Given the description of an element on the screen output the (x, y) to click on. 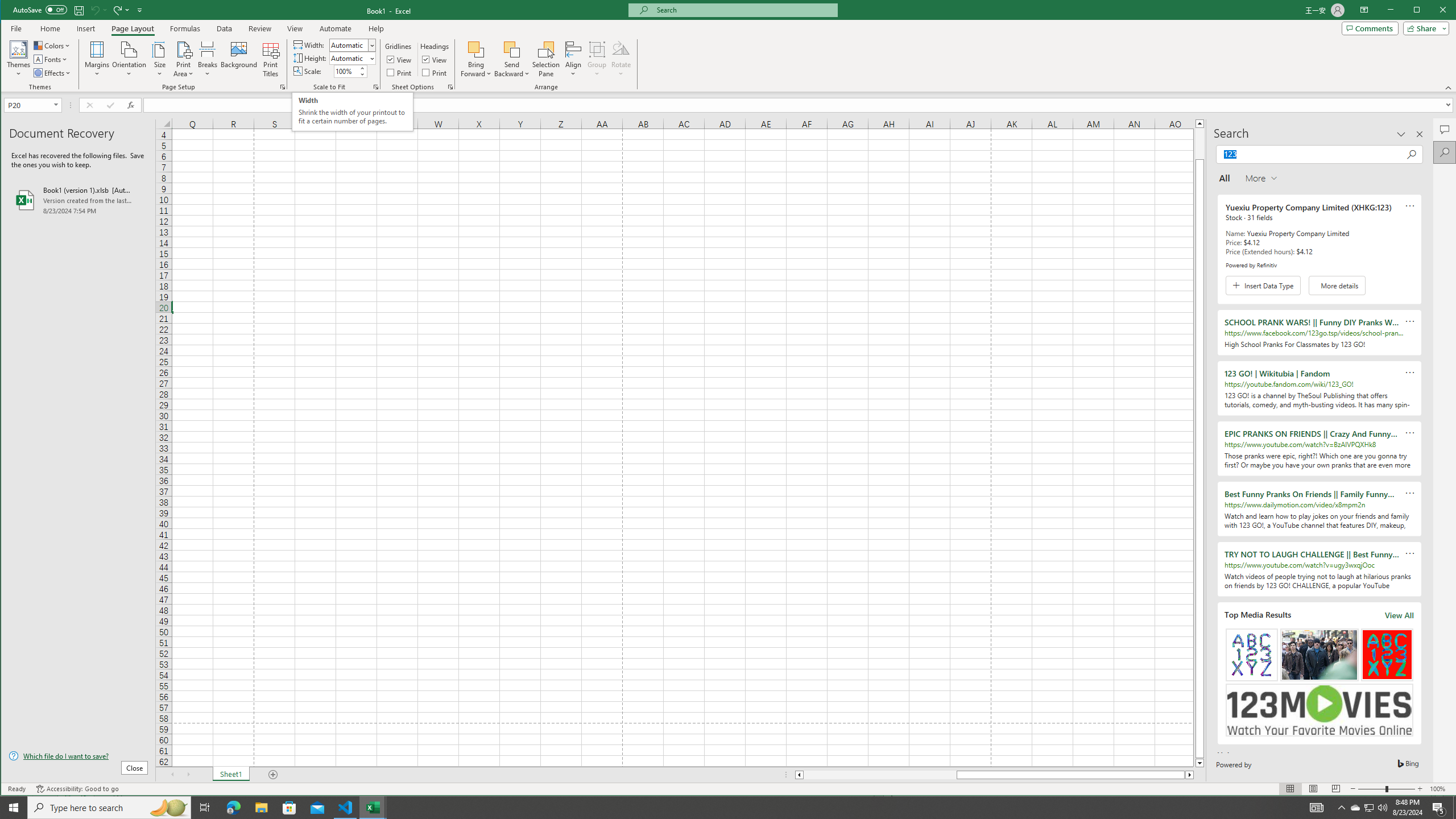
Search (1444, 151)
More (361, 68)
Maximize (1432, 11)
Visual Studio Code - 1 running window (345, 807)
Task View (204, 807)
Bring Forward (476, 59)
User Promoted Notification Area (1368, 807)
Send Backward (512, 59)
Background... (239, 59)
